Given the description of an element on the screen output the (x, y) to click on. 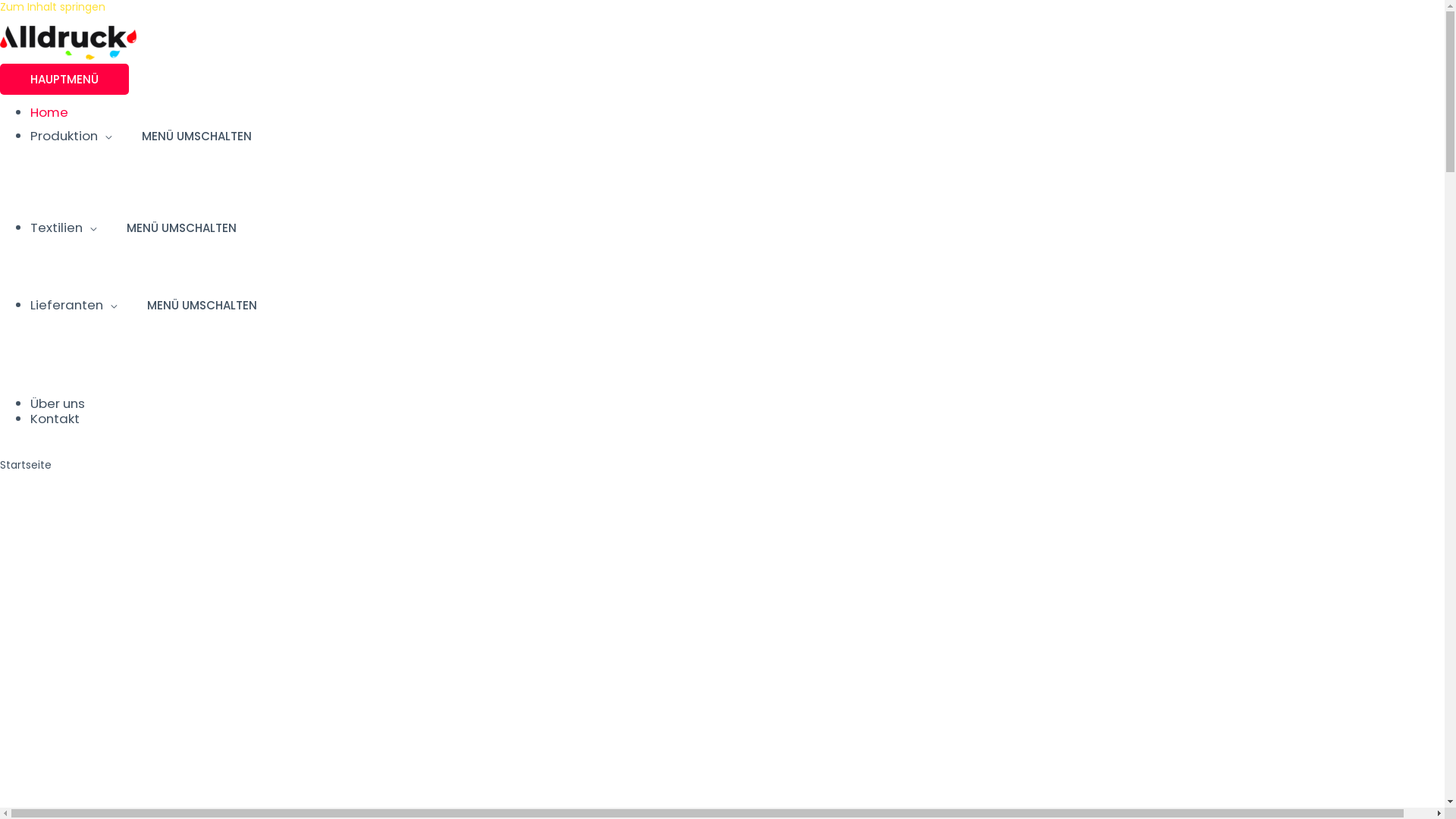
Home Element type: text (49, 112)
Textilien Element type: text (63, 227)
Kontakt Element type: text (54, 418)
Lieferanten Element type: text (73, 304)
Produktion Element type: text (70, 135)
